Given the description of an element on the screen output the (x, y) to click on. 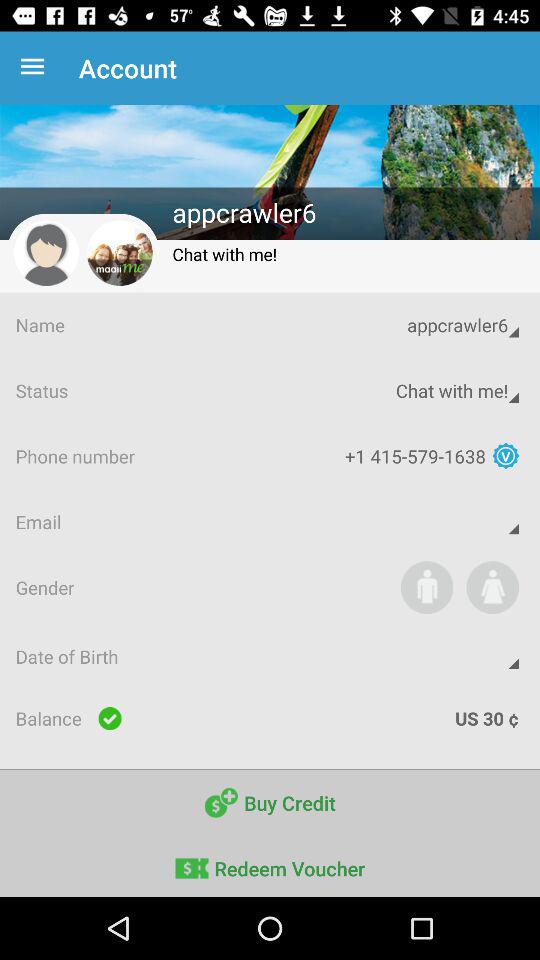
tap icon above date of birth icon (492, 587)
